Given the description of an element on the screen output the (x, y) to click on. 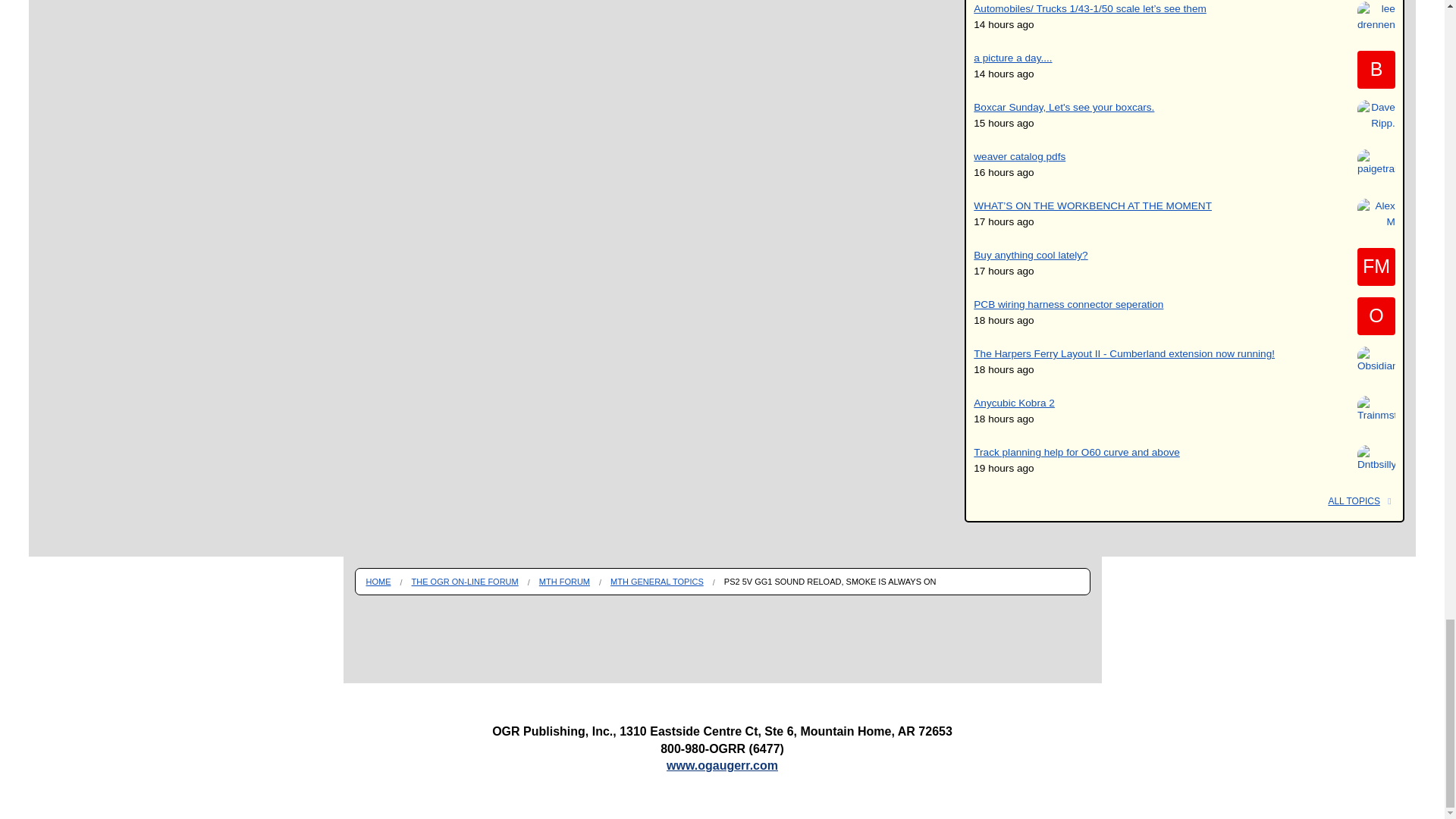
O (1375, 315)
B (1375, 69)
FM (1375, 266)
